Given the description of an element on the screen output the (x, y) to click on. 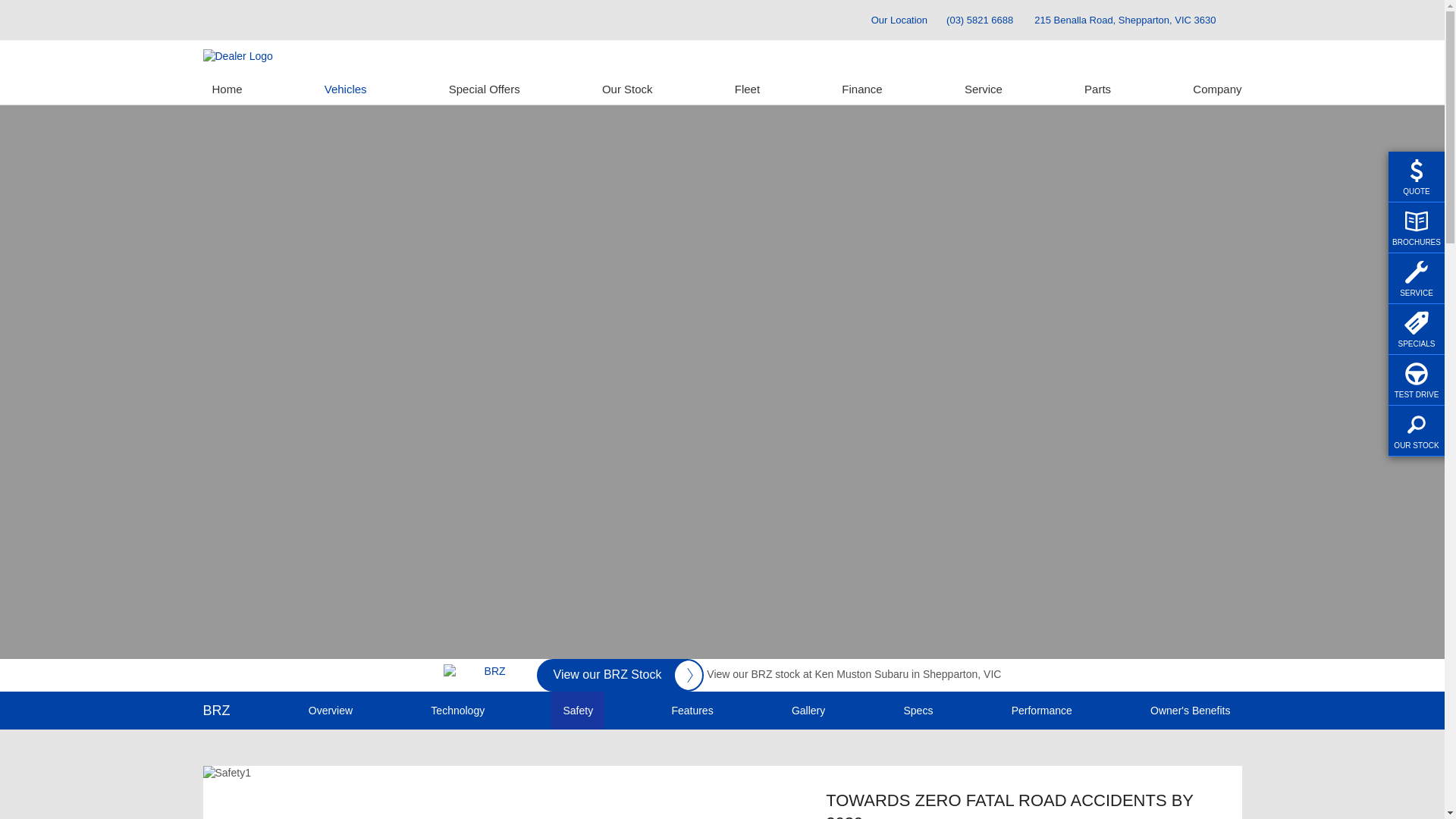
Performance Element type: text (1041, 710)
Technology Element type: text (457, 710)
Vehicles Element type: text (345, 88)
Fleet Element type: text (746, 88)
(03) 5821 6688 Element type: text (979, 19)
Overview Element type: text (330, 710)
Safety Element type: text (577, 710)
Specs Element type: text (917, 710)
215 Benalla Road, Shepparton, VIC 3630 Element type: text (1124, 19)
Service Element type: text (983, 88)
Company Element type: text (1212, 88)
Our Location Element type: text (892, 19)
Gallery Element type: text (808, 710)
Special Offers Element type: text (484, 88)
Owner'S Benefits Element type: text (1190, 710)
Finance Element type: text (861, 88)
Home Element type: text (227, 88)
Our Stock Element type: text (627, 88)
Features Element type: text (691, 710)
Parts Element type: text (1097, 88)
